Given the description of an element on the screen output the (x, y) to click on. 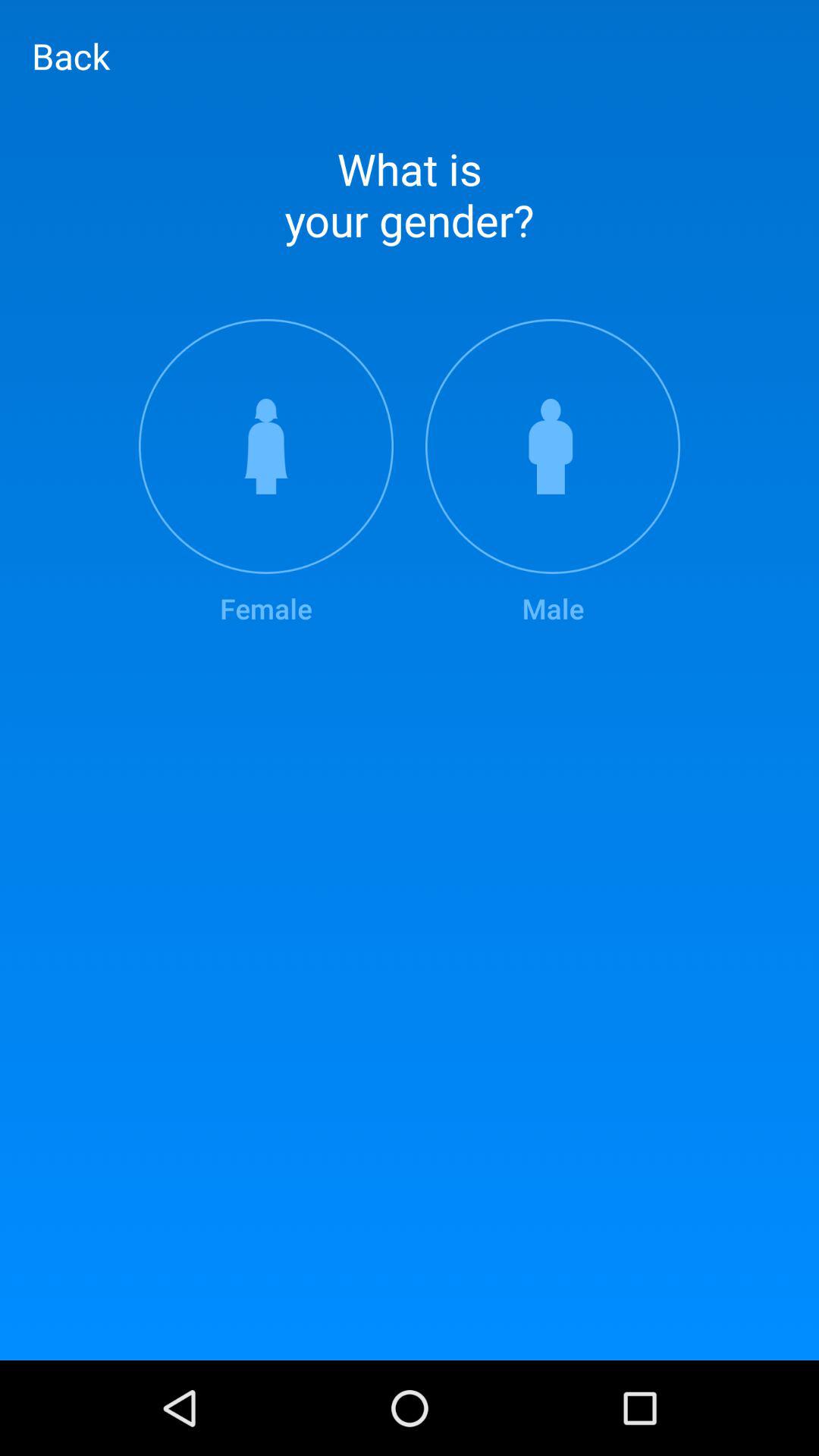
flip until female (265, 473)
